Given the description of an element on the screen output the (x, y) to click on. 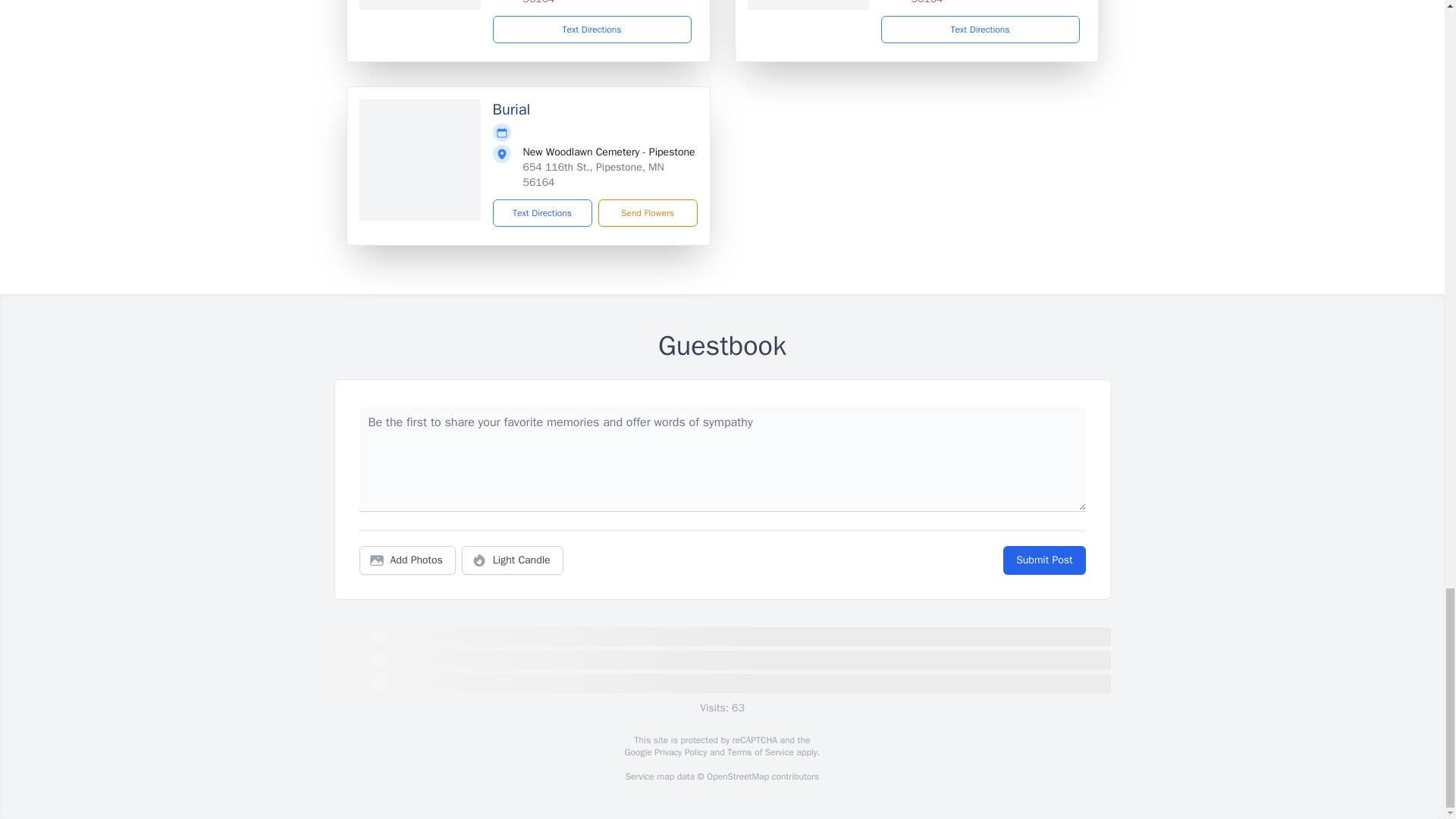
Submit Post (1043, 560)
710 SE 4th St. , Pipestone, MN 56164 (595, 2)
Send Flowers (646, 212)
Text Directions (592, 29)
Light Candle (512, 560)
654 116th St., Pipestone, MN 56164 (592, 174)
OpenStreetMap (737, 776)
Terms of Service (759, 752)
Privacy Policy (679, 752)
Text Directions (542, 212)
